Given the description of an element on the screen output the (x, y) to click on. 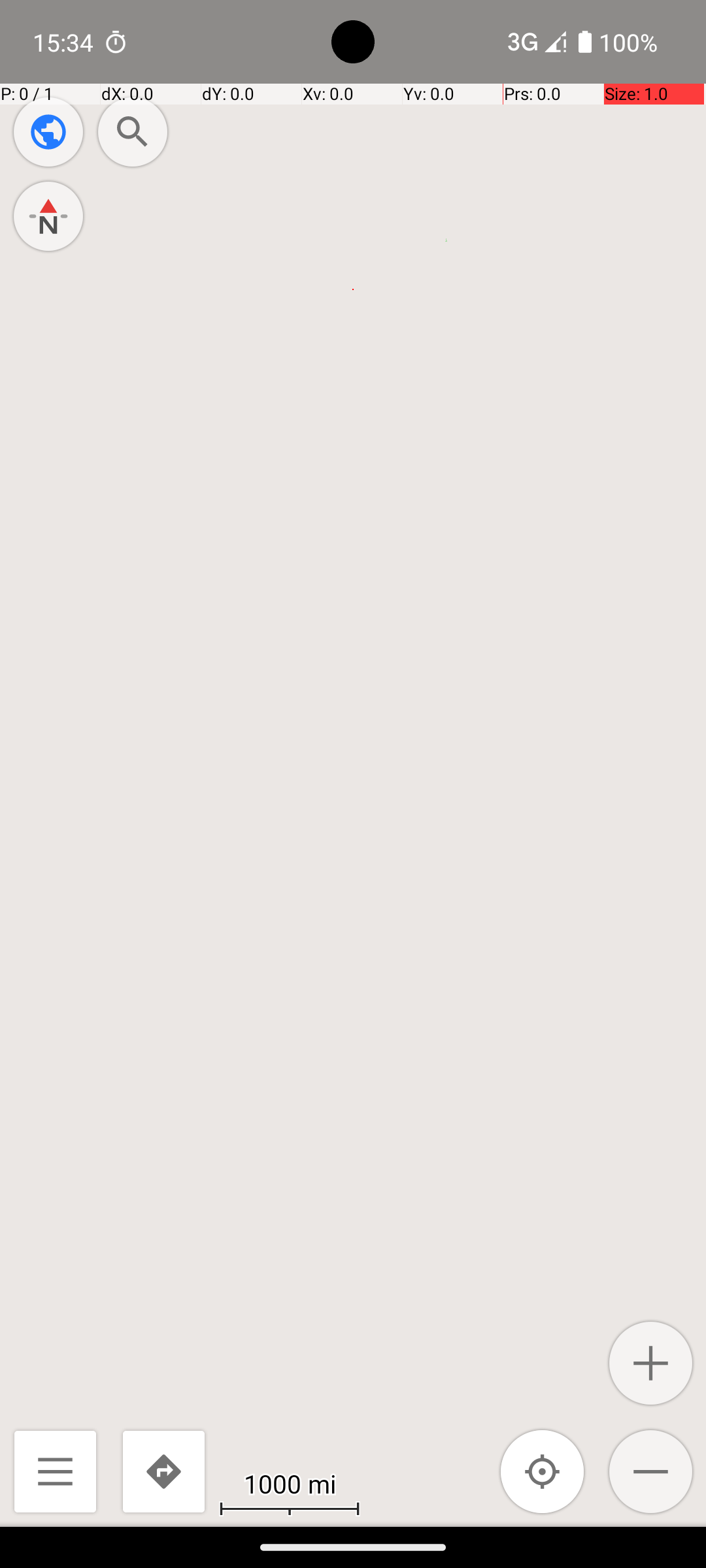
1000 mi Element type: android.widget.TextView (289, 1483)
